Given the description of an element on the screen output the (x, y) to click on. 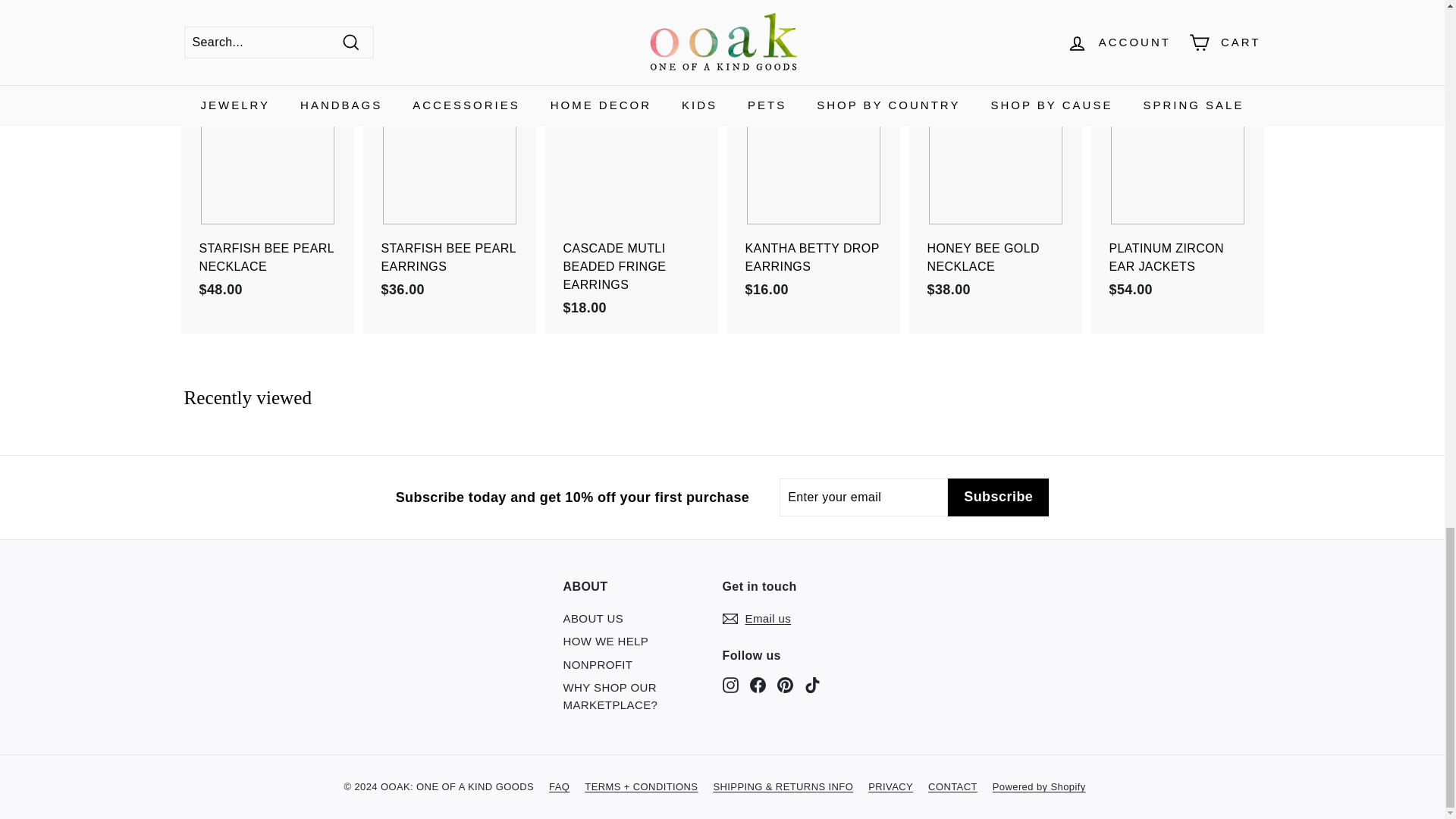
OOAK: ONE OF A KIND GOODS on Pinterest (784, 684)
OOAK: ONE OF A KIND GOODS on Instagram (730, 684)
OOAK: ONE OF A KIND GOODS on TikTok (811, 684)
OOAK: ONE OF A KIND GOODS on Facebook (757, 684)
